Given the description of an element on the screen output the (x, y) to click on. 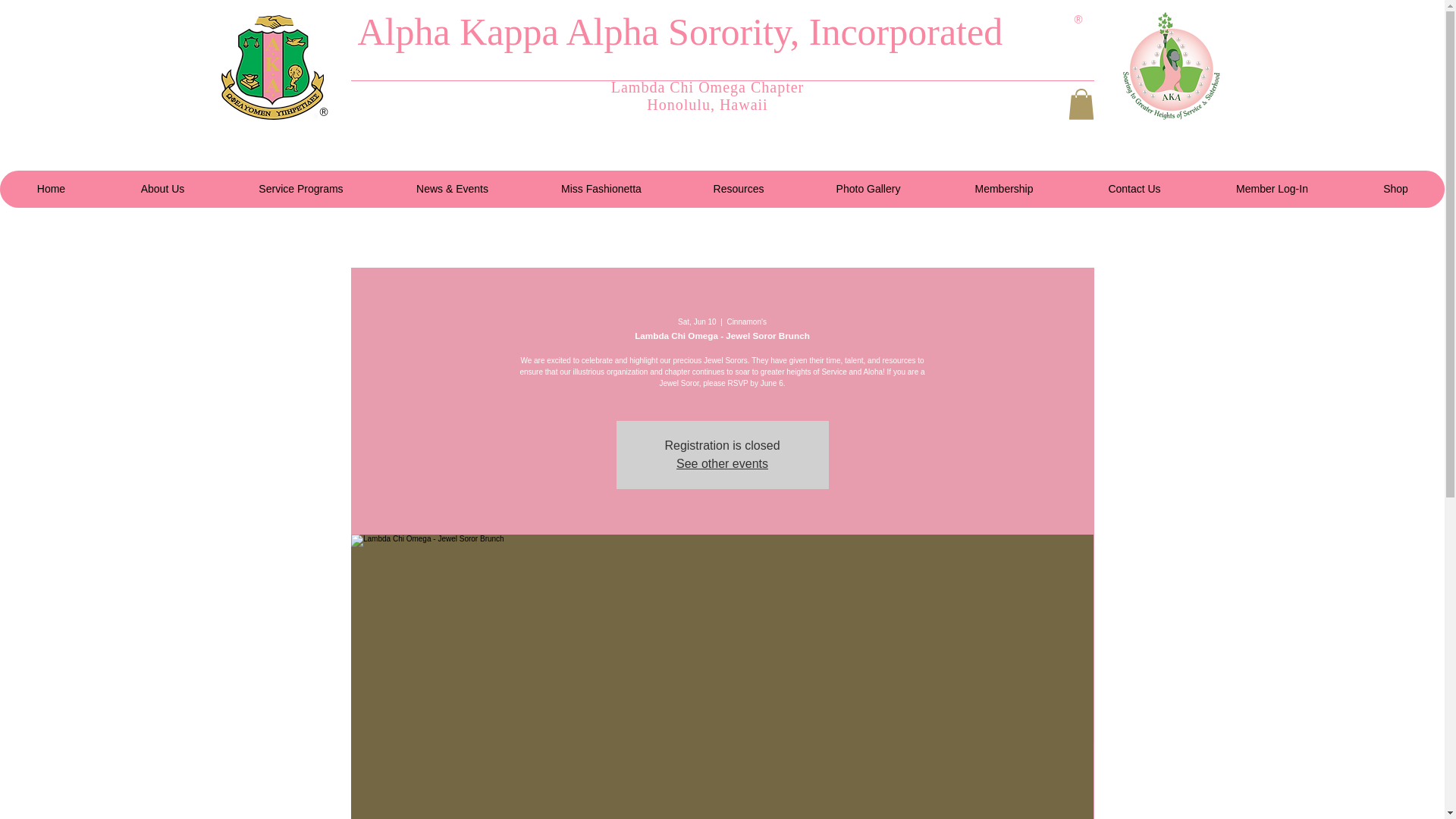
Contact Us (1133, 189)
Miss Fashionetta (600, 189)
Home (50, 189)
About Us (161, 189)
Photo Gallery (867, 189)
Member Log-In (1270, 189)
See other events (722, 463)
Membership (1003, 189)
Resources (738, 189)
Service Programs (300, 189)
